Given the description of an element on the screen output the (x, y) to click on. 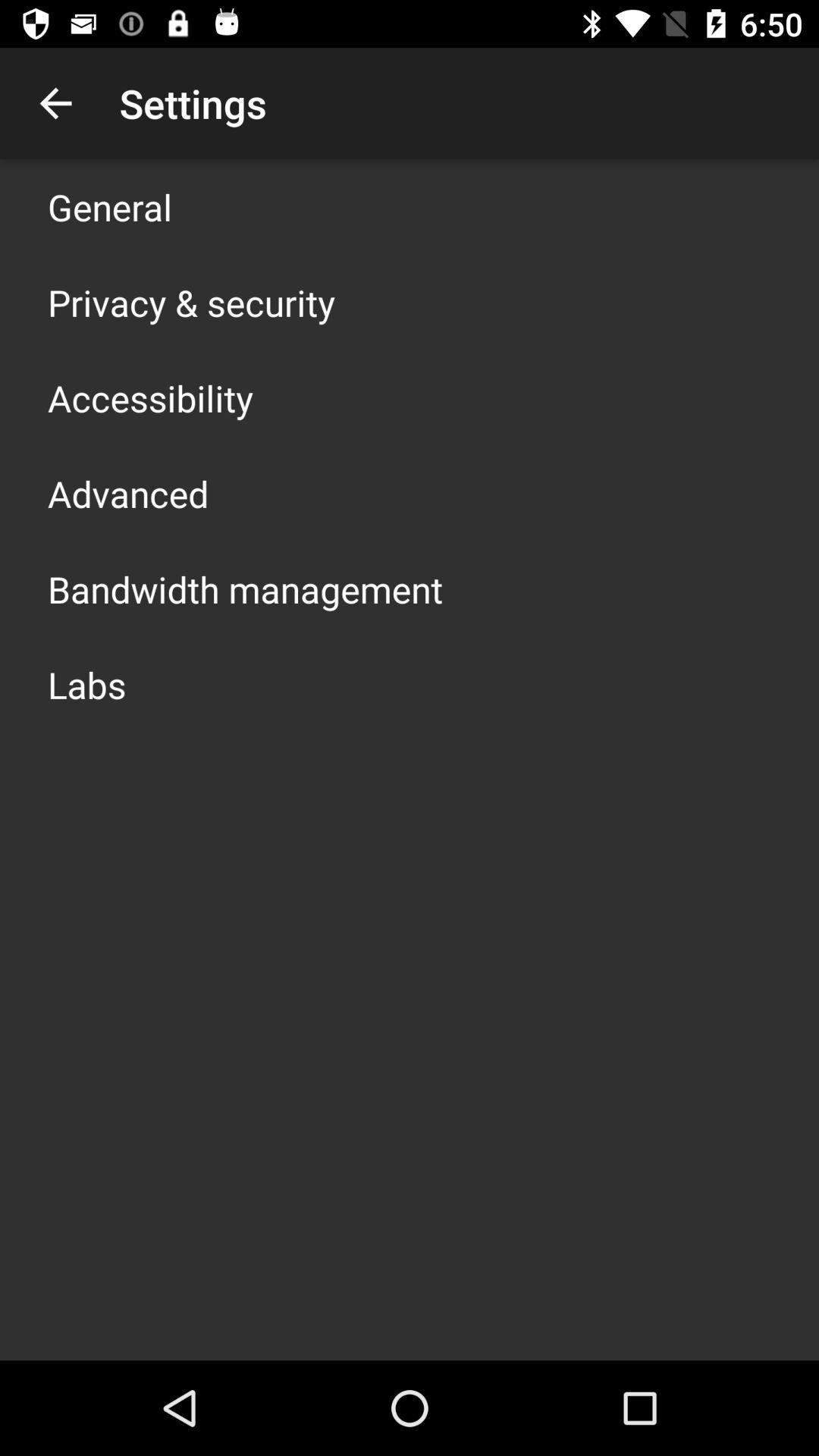
launch the item below the bandwidth management item (86, 684)
